Given the description of an element on the screen output the (x, y) to click on. 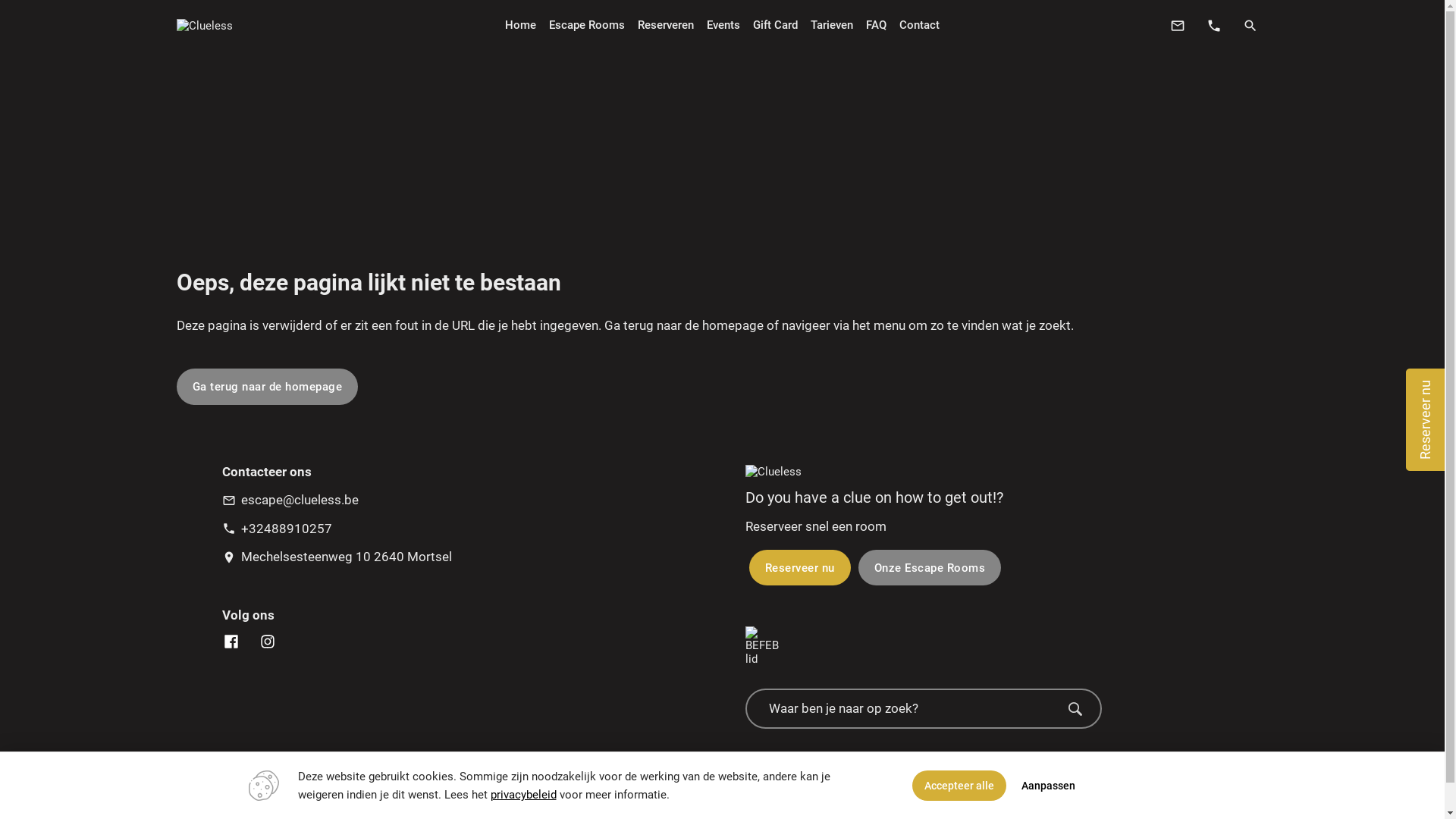
Clueless Instagram Element type: hover (266, 641)
Tarieven Element type: text (831, 24)
Clueless Facebook Element type: hover (234, 641)
Privacy Element type: text (585, 798)
Reserveer nu Element type: text (799, 567)
privacybeleid Element type: text (522, 794)
Website by Element type: text (823, 798)
Gift Card Element type: text (774, 24)
Clueless Element type: hover (772, 471)
mail_outline
escape@clueless.be Element type: text (289, 503)
location_on
Mechelsesteenweg 10 2640 Mortsel Element type: text (336, 560)
Onze Escape Rooms Element type: text (929, 567)
Sitemap Element type: text (766, 798)
Home Element type: text (520, 24)
Ga terug naar de homepage Element type: text (266, 386)
Contact Element type: text (919, 24)
Aanpassen Element type: text (1047, 785)
phone
+32488910257 Element type: text (276, 531)
Clueless Element type: hover (203, 24)
Algemene voorwaarden Element type: text (674, 798)
BEFEB lid Element type: hover (761, 645)
Reserveren Element type: text (664, 24)
Accepteer alle Element type: text (958, 785)
mail_outline Element type: text (1176, 24)
Webhero Element type: hover (870, 798)
Escape Rooms Element type: text (586, 24)
Events Element type: text (723, 24)
search Element type: text (1249, 24)
FAQ Element type: text (876, 24)
phone Element type: text (1213, 24)
